Given the description of an element on the screen output the (x, y) to click on. 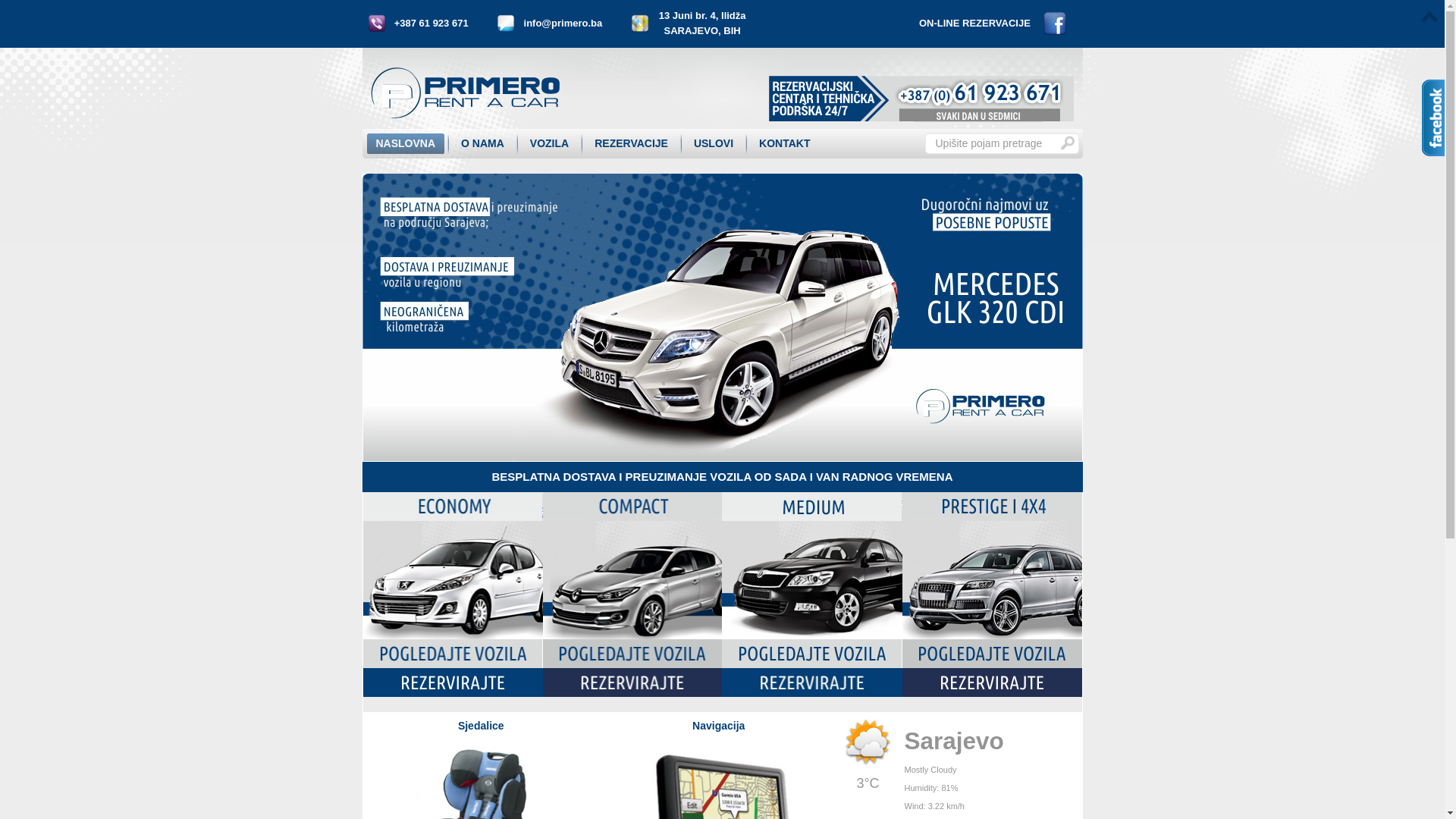
O NAMA Element type: text (482, 143)
KONTAKT Element type: text (784, 143)
ON-LINE REZERVACIJE Element type: text (974, 22)
VOZILA Element type: text (548, 143)
USLOVI Element type: text (713, 143)
NASLOVNA Element type: text (406, 143)
REZERVACIJE Element type: text (631, 143)
